Given the description of an element on the screen output the (x, y) to click on. 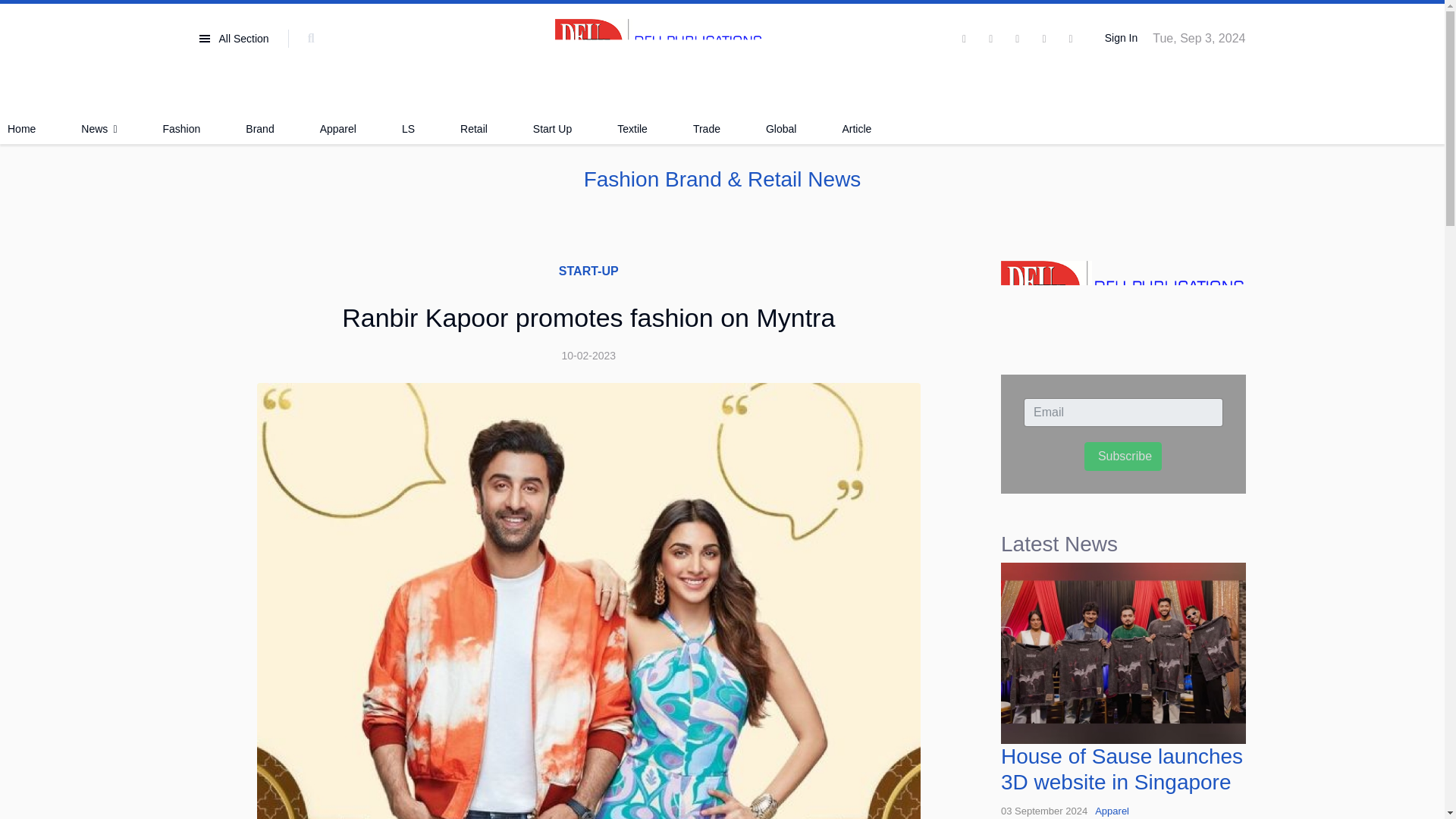
Published: 10 February 2023 (587, 354)
Category: Start-Up (588, 271)
Sign In (1118, 38)
